Given the description of an element on the screen output the (x, y) to click on. 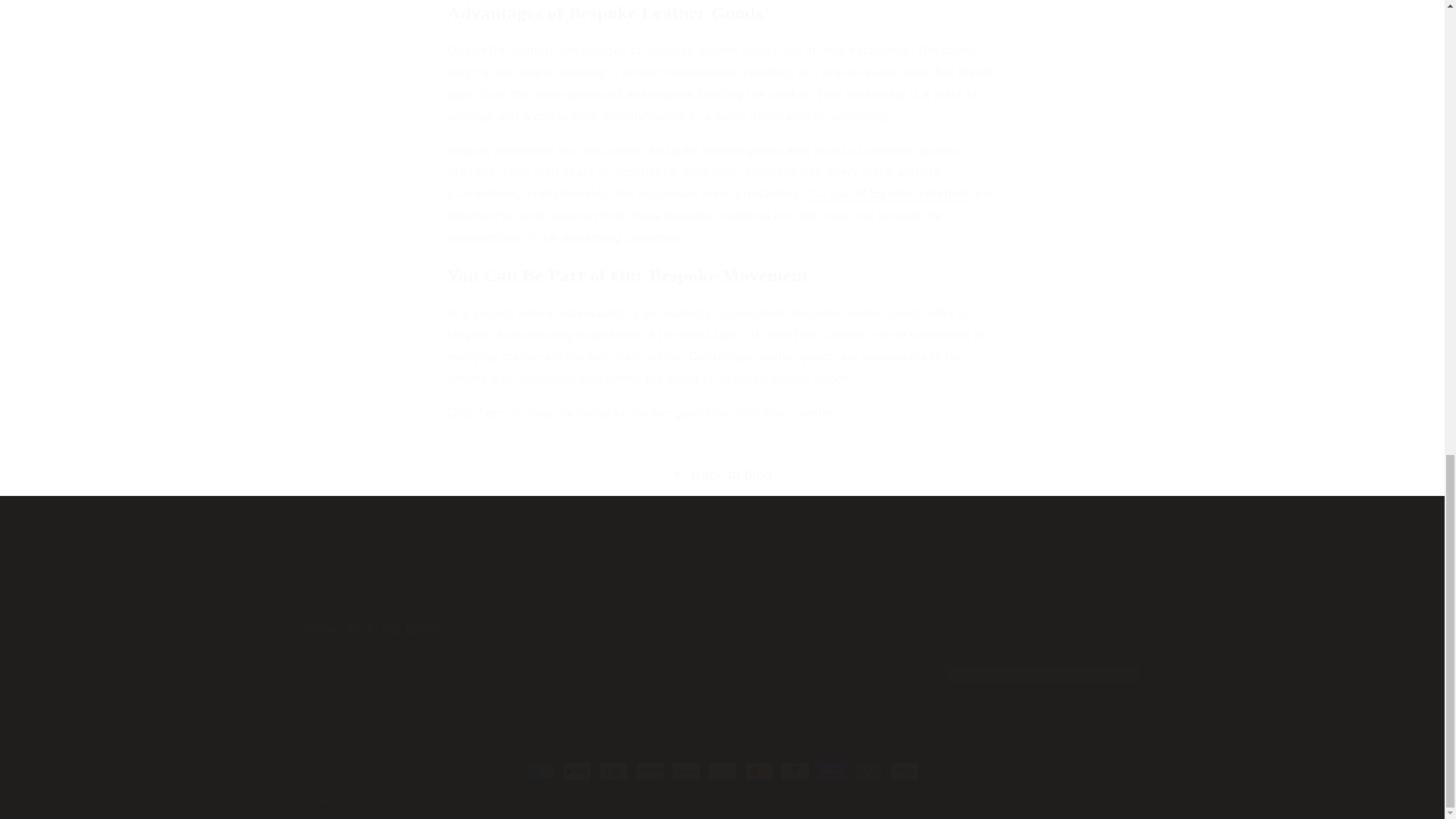
Search (721, 583)
All products (670, 599)
Click here (721, 653)
Contact (734, 599)
Stirn Fine Leather (475, 412)
Home page (844, 599)
